Given the description of an element on the screen output the (x, y) to click on. 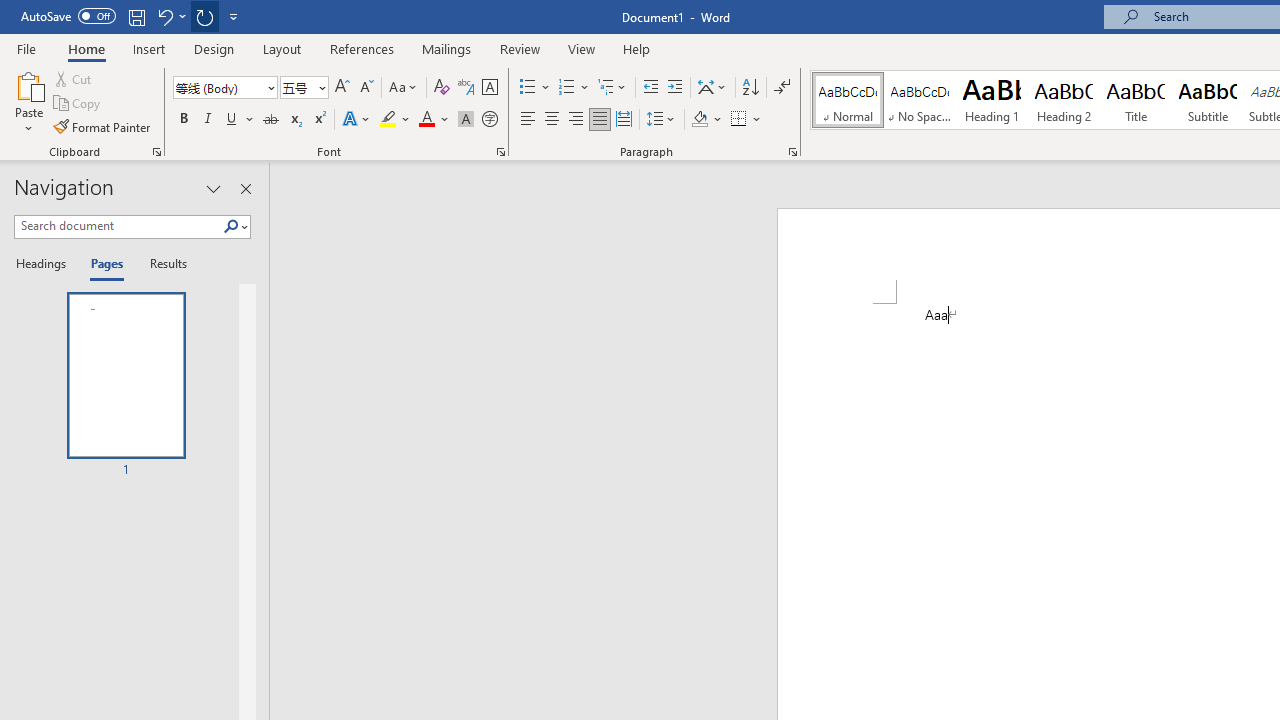
Font (218, 87)
Increase Indent (675, 87)
Quick Access Toolbar (131, 16)
Decrease Indent (650, 87)
Font Color Red (426, 119)
Align Left (527, 119)
Subtitle (1208, 100)
Align Right (575, 119)
Character Shading (465, 119)
Multilevel List (613, 87)
Class: NetUIImage (231, 226)
Paragraph... (792, 151)
File Tab (26, 48)
Open (320, 87)
